Given the description of an element on the screen output the (x, y) to click on. 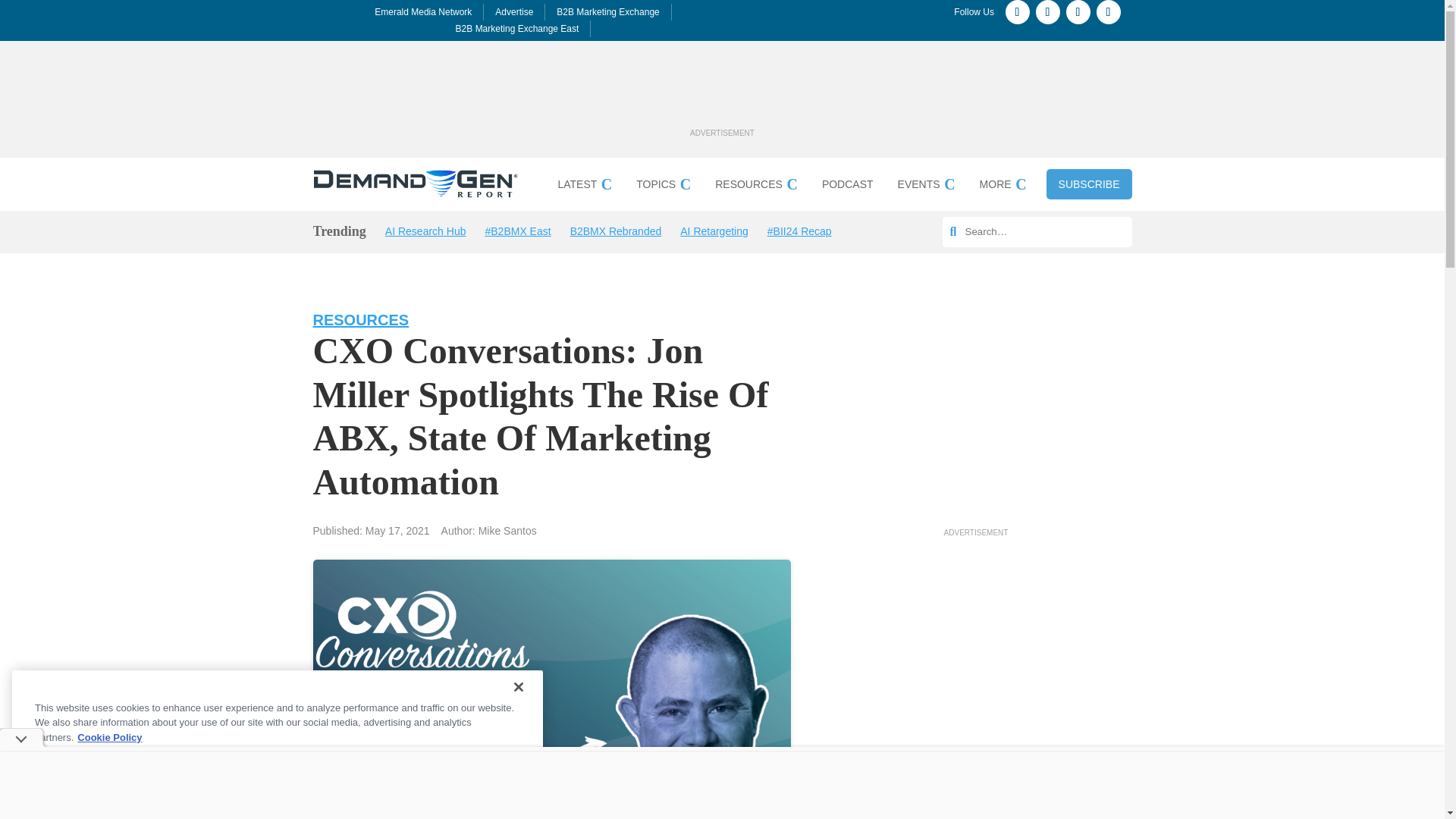
RESOURCES (755, 187)
Follow on LinkedIn (1108, 12)
3rd party ad content (721, 90)
Follow on Facebook (1017, 12)
B2B Marketing Exchange East (517, 28)
Follow on X (1077, 12)
Emerald Media Network (422, 11)
LATEST (584, 187)
Follow on Youtube (1047, 12)
Advertise (513, 11)
B2B Marketing Exchange (607, 11)
TOPICS (663, 187)
